Given the description of an element on the screen output the (x, y) to click on. 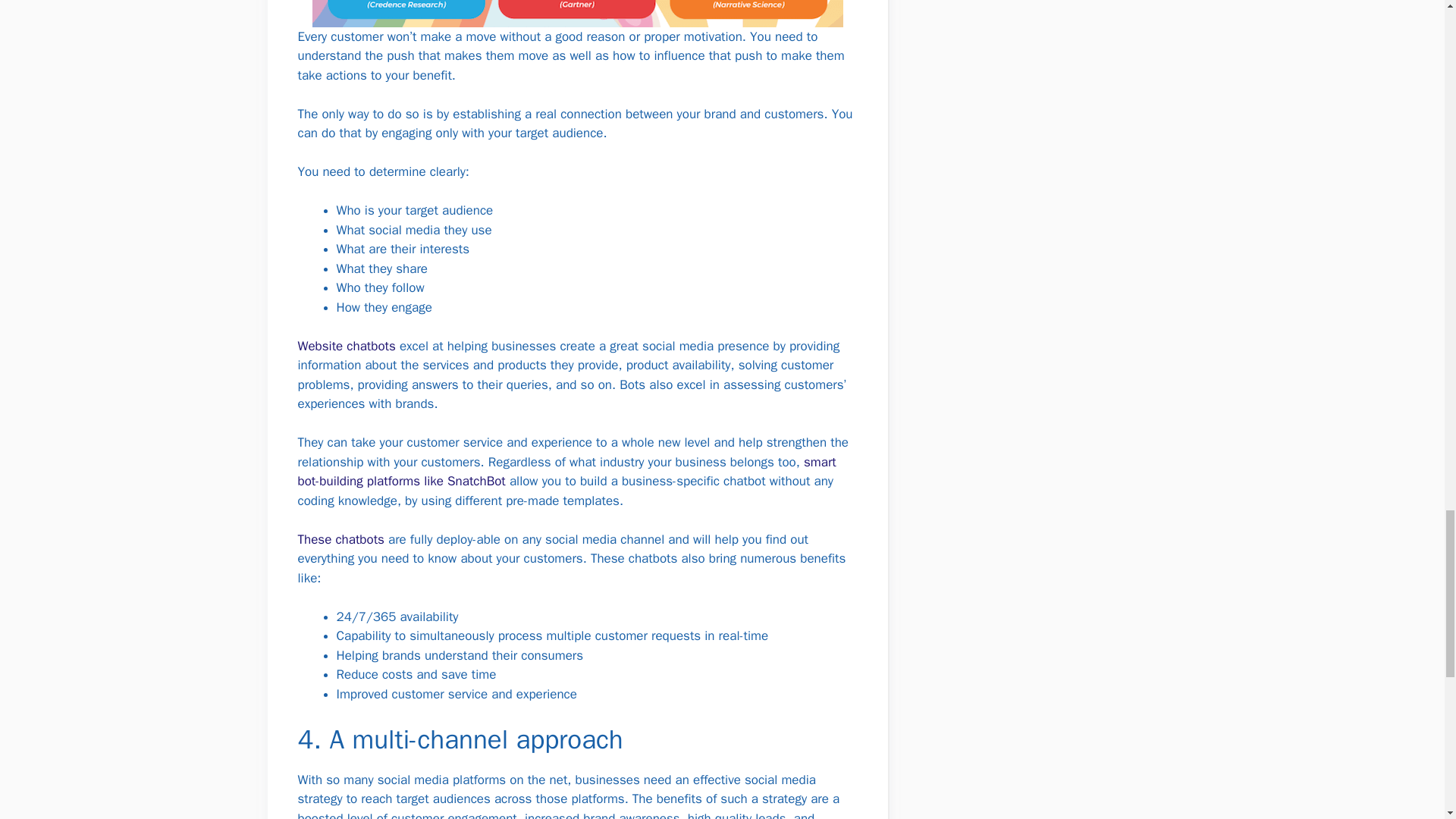
smart bot-building platforms like SnatchBot (566, 471)
hatbots (374, 345)
These chatbots (340, 539)
We (305, 345)
bsite c (334, 345)
